Given the description of an element on the screen output the (x, y) to click on. 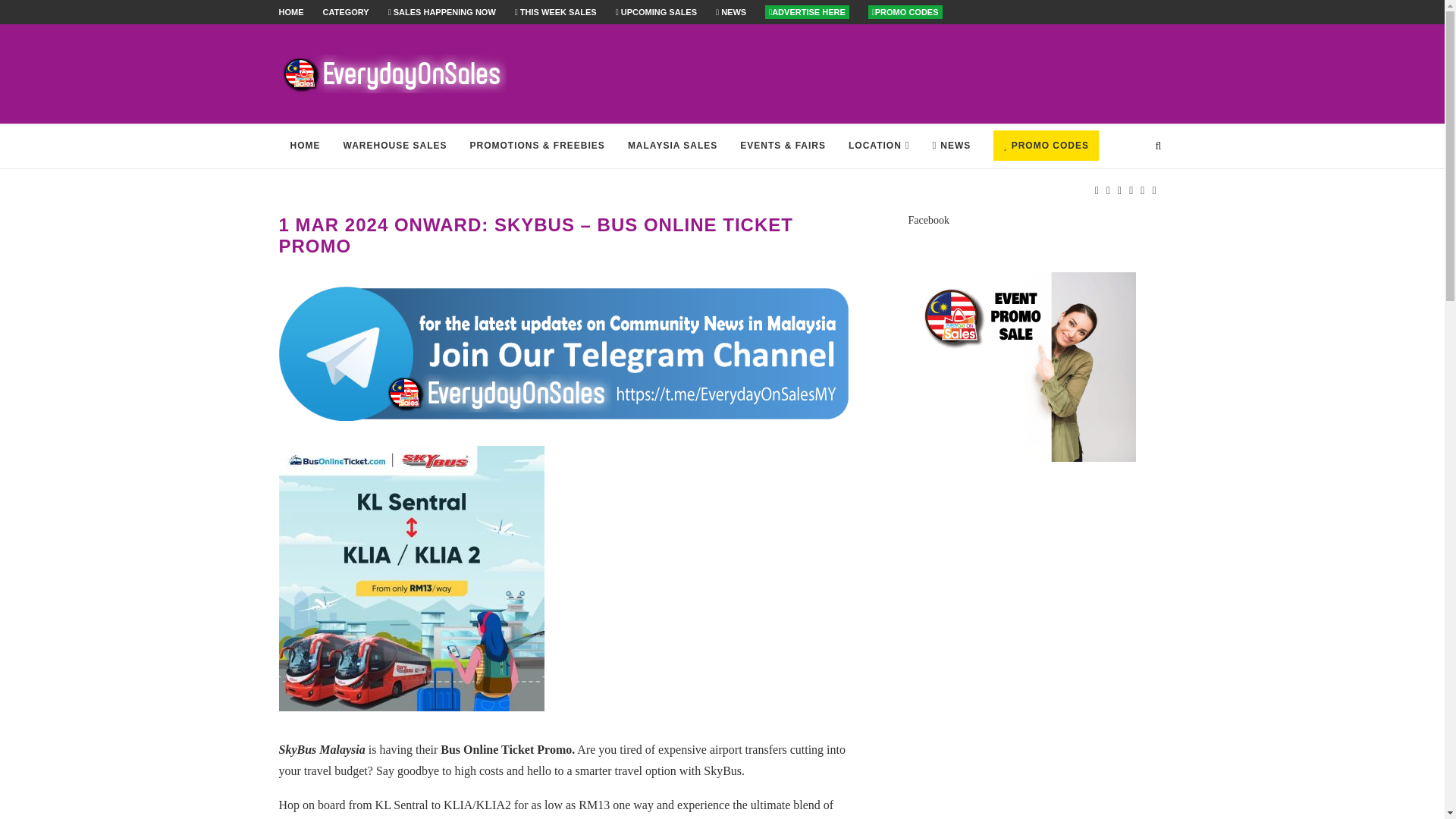
HOME (291, 11)
CATEGORY (346, 11)
